Given the description of an element on the screen output the (x, y) to click on. 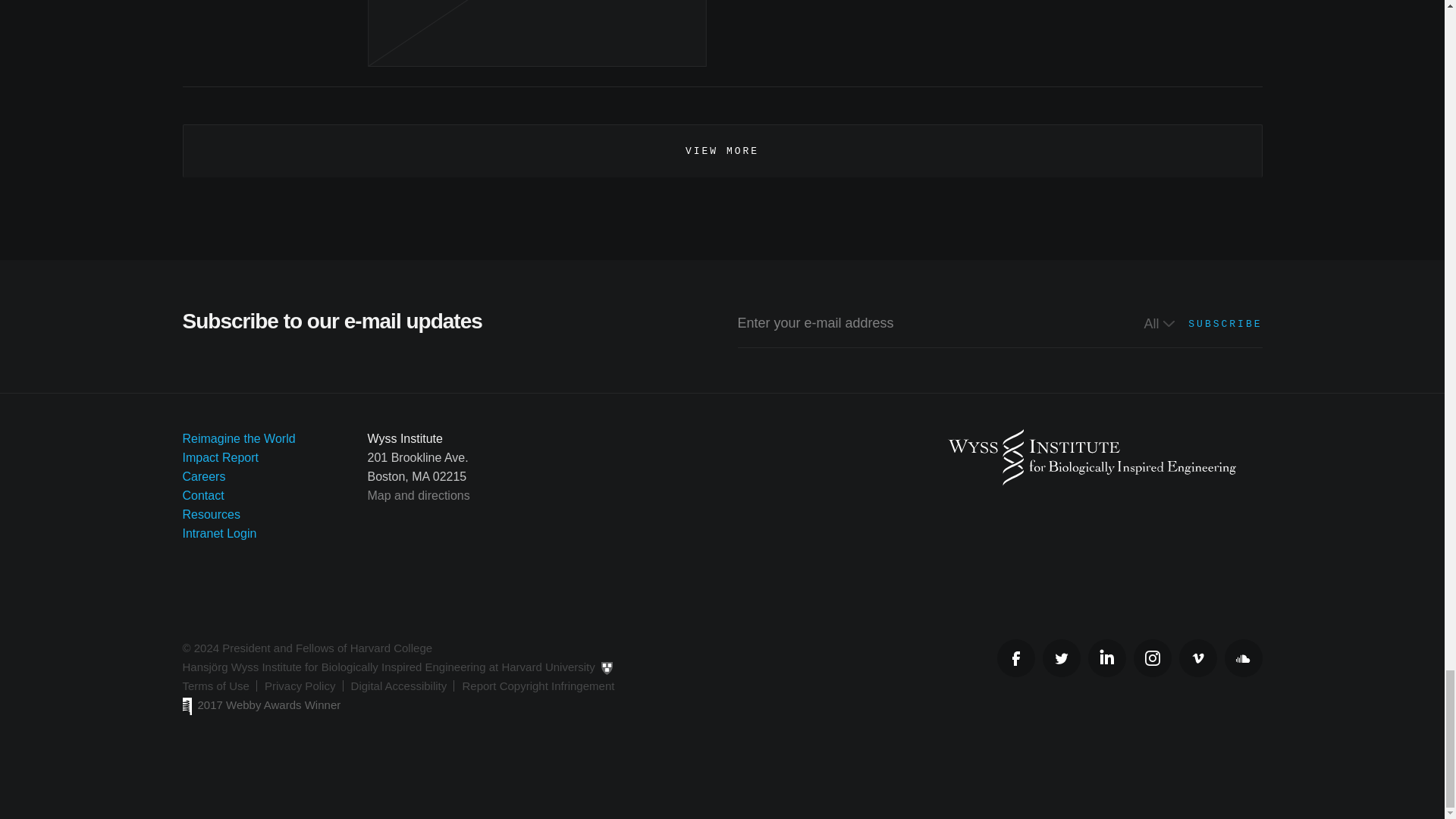
Subscribe to our e-mail updates (722, 348)
